Given the description of an element on the screen output the (x, y) to click on. 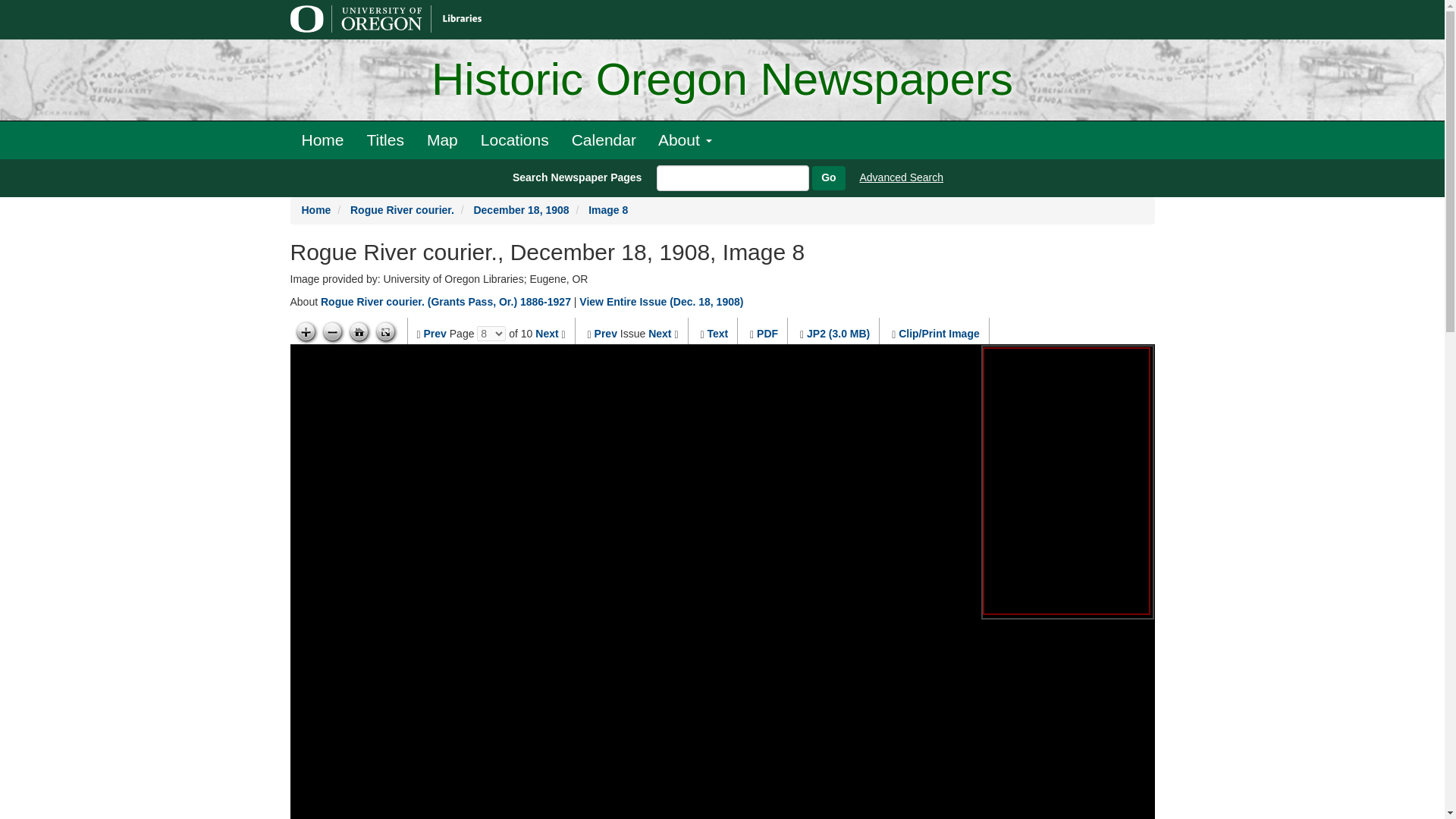
Go home (359, 332)
Calendar (603, 139)
Home (322, 139)
Rogue River courier. (402, 209)
Toggle full page (385, 332)
Prev (605, 333)
Prev (434, 333)
December 18, 1908 (521, 209)
Go (828, 178)
Image 8 (607, 209)
